Given the description of an element on the screen output the (x, y) to click on. 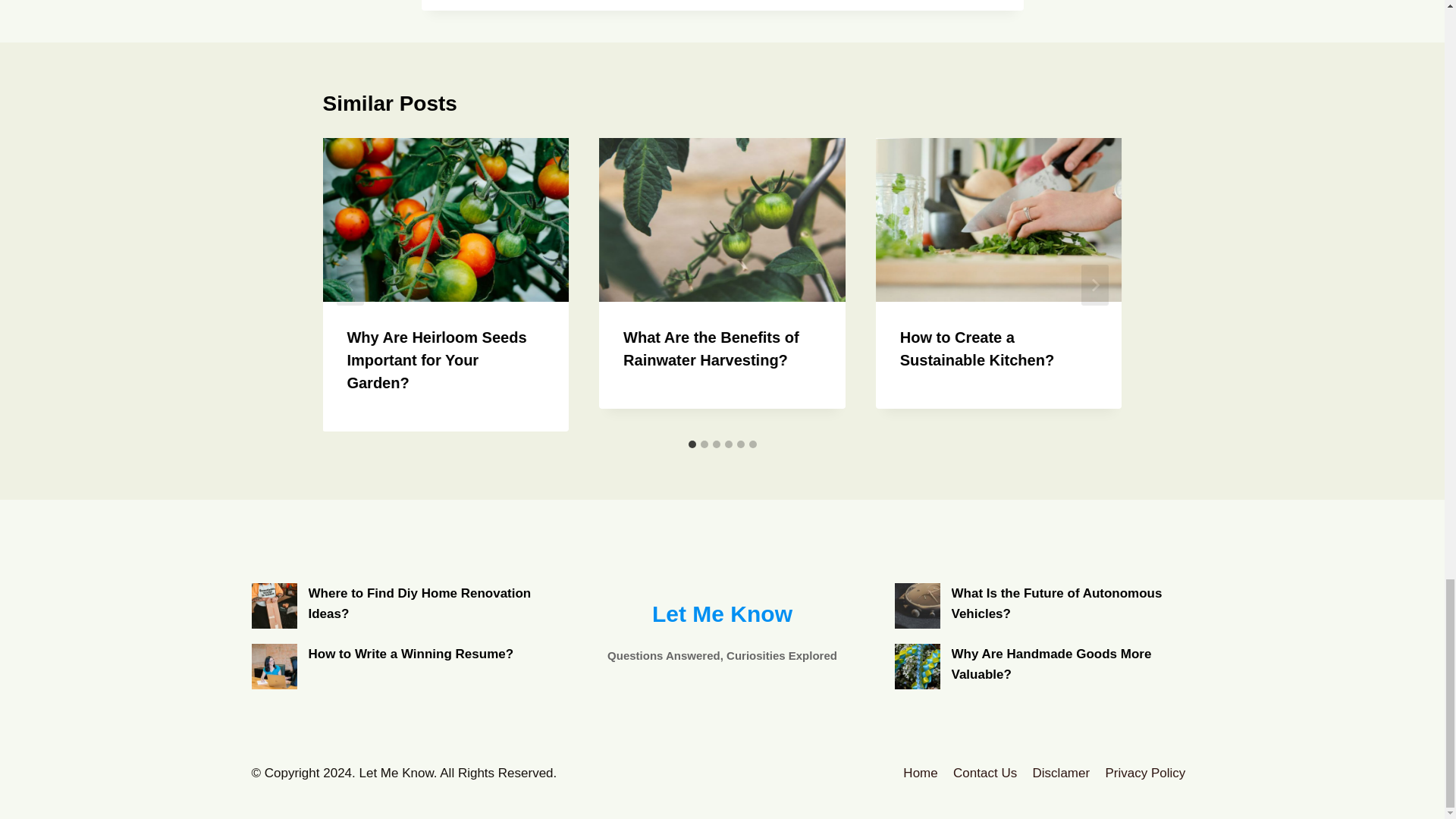
How to Write a Winning Resume? (274, 666)
Where to Find Diy Home Renovation Ideas? (274, 605)
Why Are Handmade Goods More Valuable? (917, 666)
What Is the Future of Autonomous Vehicles? (917, 605)
What Are the Benefits of Rainwater Harvesting? (711, 348)
Why Are Heirloom Seeds Important for Your Garden? (435, 360)
